Given the description of an element on the screen output the (x, y) to click on. 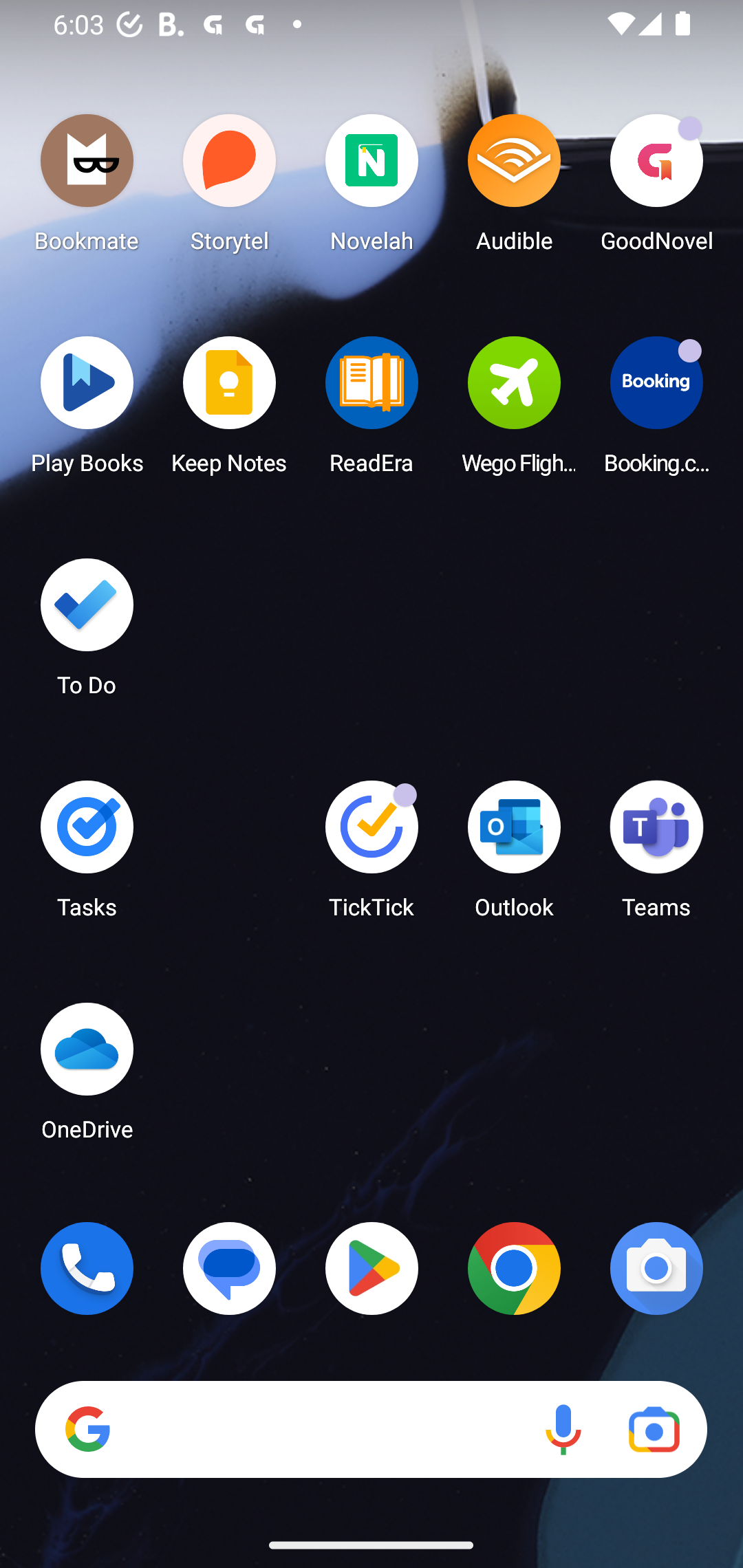
Bookmate (86, 188)
Storytel (229, 188)
Novelah (371, 188)
Audible (513, 188)
GoodNovel GoodNovel has 19 notifications (656, 188)
Play Books (86, 410)
Keep Notes (229, 410)
ReadEra (371, 410)
Wego Flights & Hotels (513, 410)
Booking.com Booking.com has 1 notification (656, 410)
To Do (86, 633)
Tasks (86, 854)
TickTick TickTick has 3 notifications (371, 854)
Outlook (513, 854)
Teams (656, 854)
OneDrive (86, 1076)
Phone (86, 1268)
Messages (229, 1268)
Play Store (371, 1268)
Chrome (513, 1268)
Camera (656, 1268)
Search Voice search Google Lens (370, 1429)
Voice search (562, 1429)
Google Lens (653, 1429)
